Given the description of an element on the screen output the (x, y) to click on. 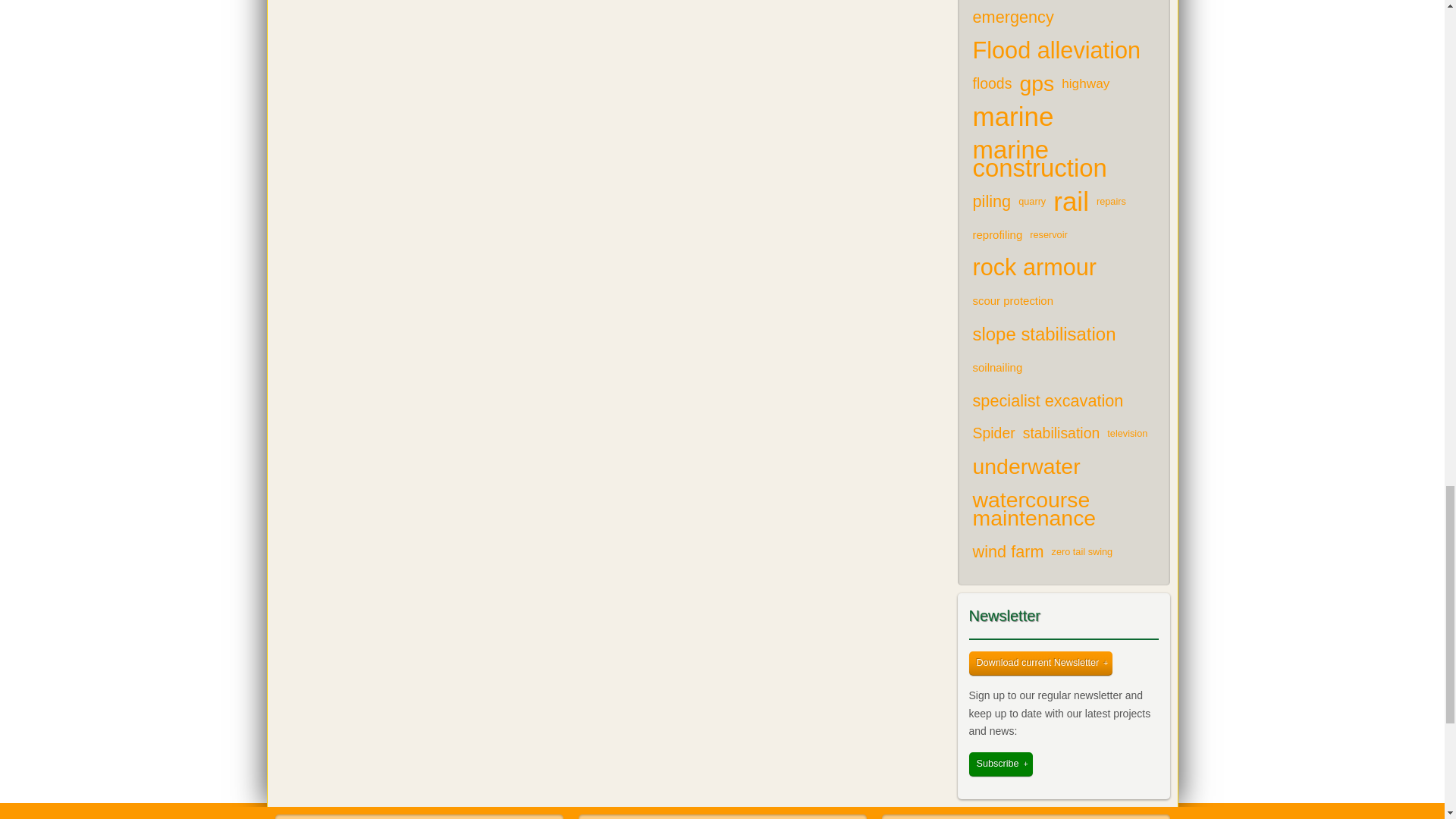
9 items tagged with gps (1036, 83)
2 items tagged with repairs (1111, 201)
12 items tagged with marine (1013, 116)
2 items tagged with quarry (1031, 201)
6 items tagged with piling (991, 201)
6 items tagged with emergency (1013, 17)
4 items tagged with highway (1085, 83)
12 items tagged with rail (1071, 201)
5 items tagged with floods (992, 83)
